Given the description of an element on the screen output the (x, y) to click on. 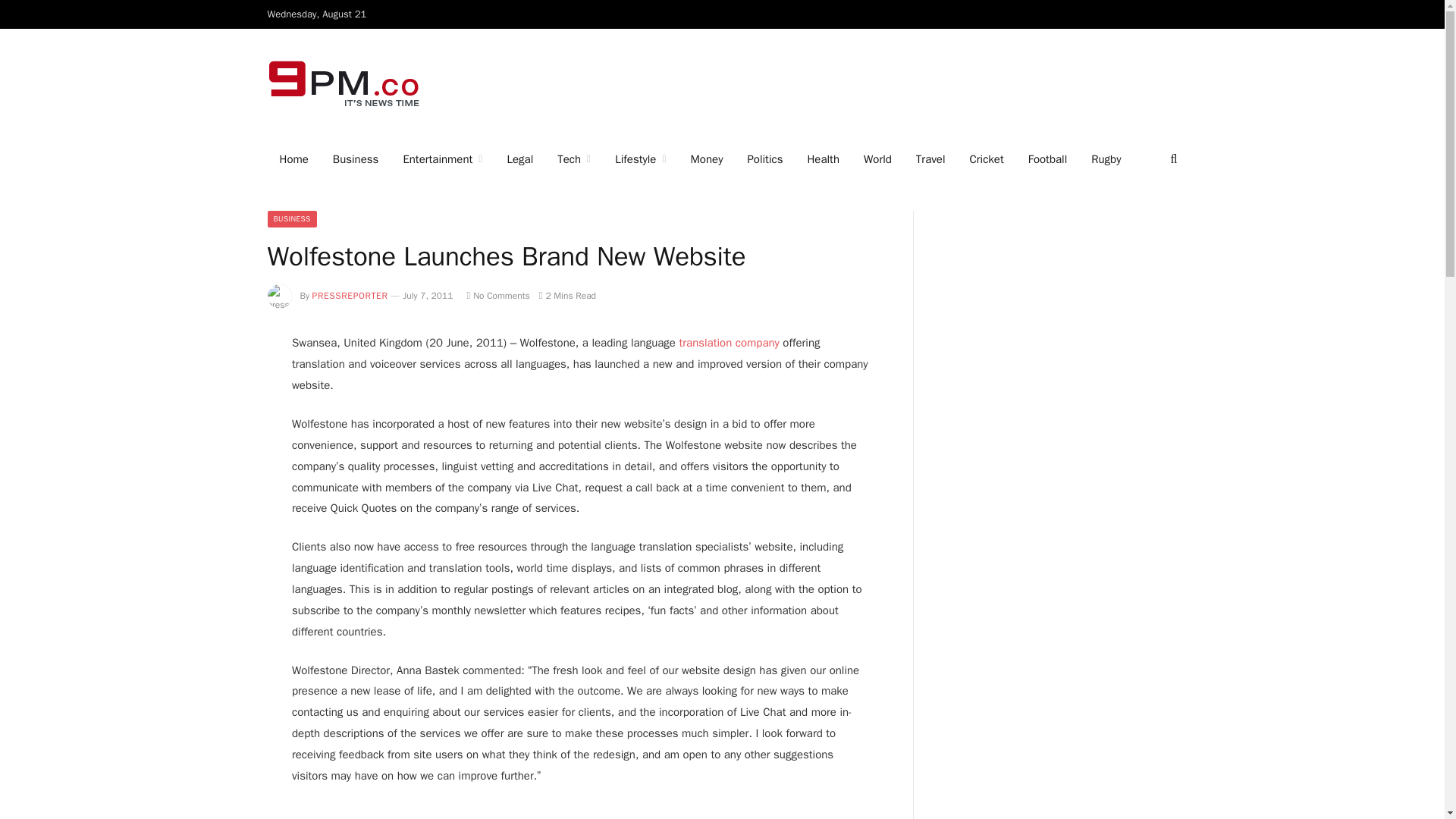
Entertainment (442, 159)
Legal (519, 159)
Business (355, 159)
Home (293, 159)
Tech (573, 159)
Lifestyle (640, 159)
9pm.Co Latest News (344, 83)
Posts by pressreporter (350, 295)
